Given the description of an element on the screen output the (x, y) to click on. 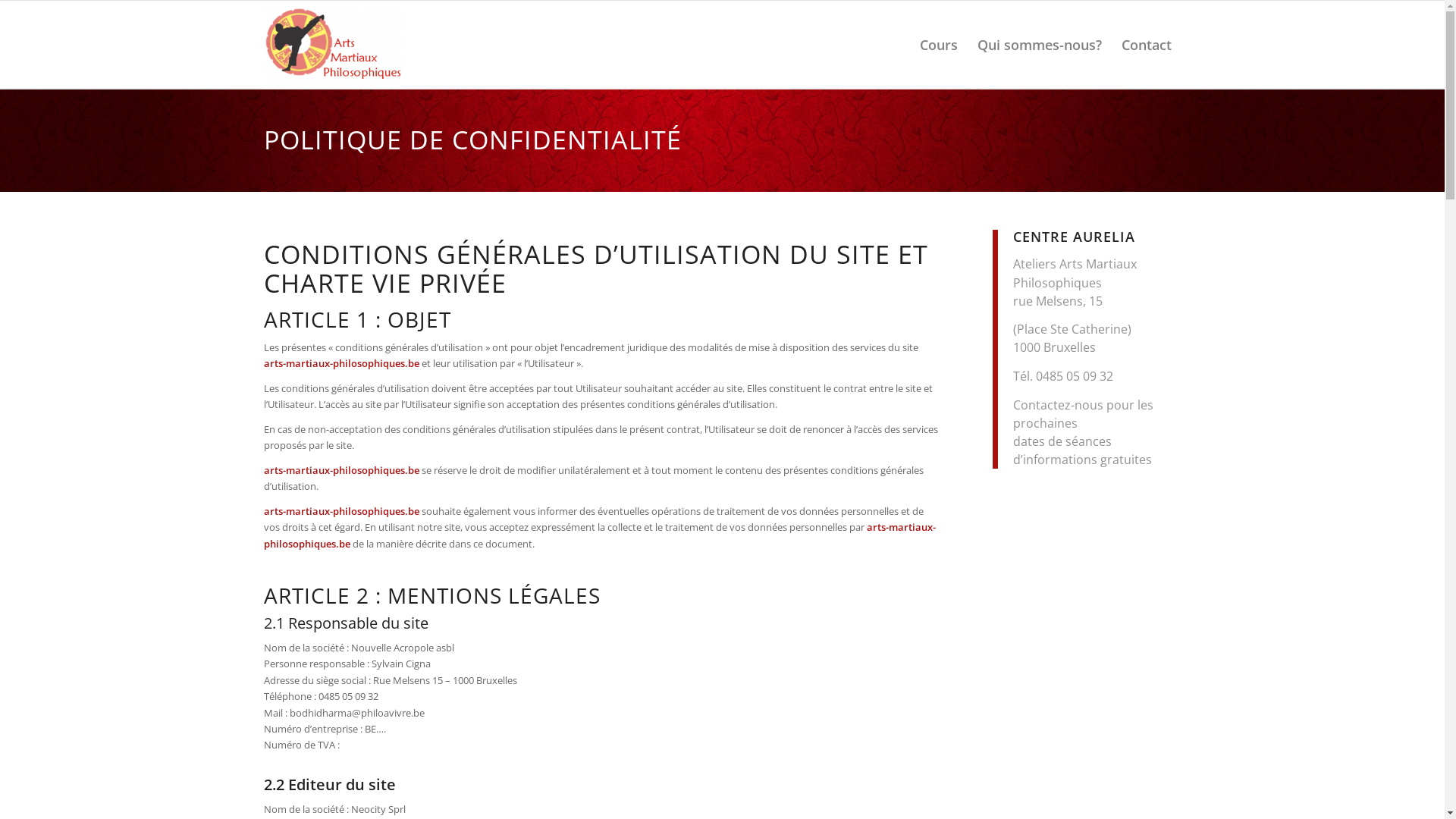
Contact Element type: text (1146, 44)
Cours Element type: text (938, 44)
Qui sommes-nous? Element type: text (1039, 44)
